Given the description of an element on the screen output the (x, y) to click on. 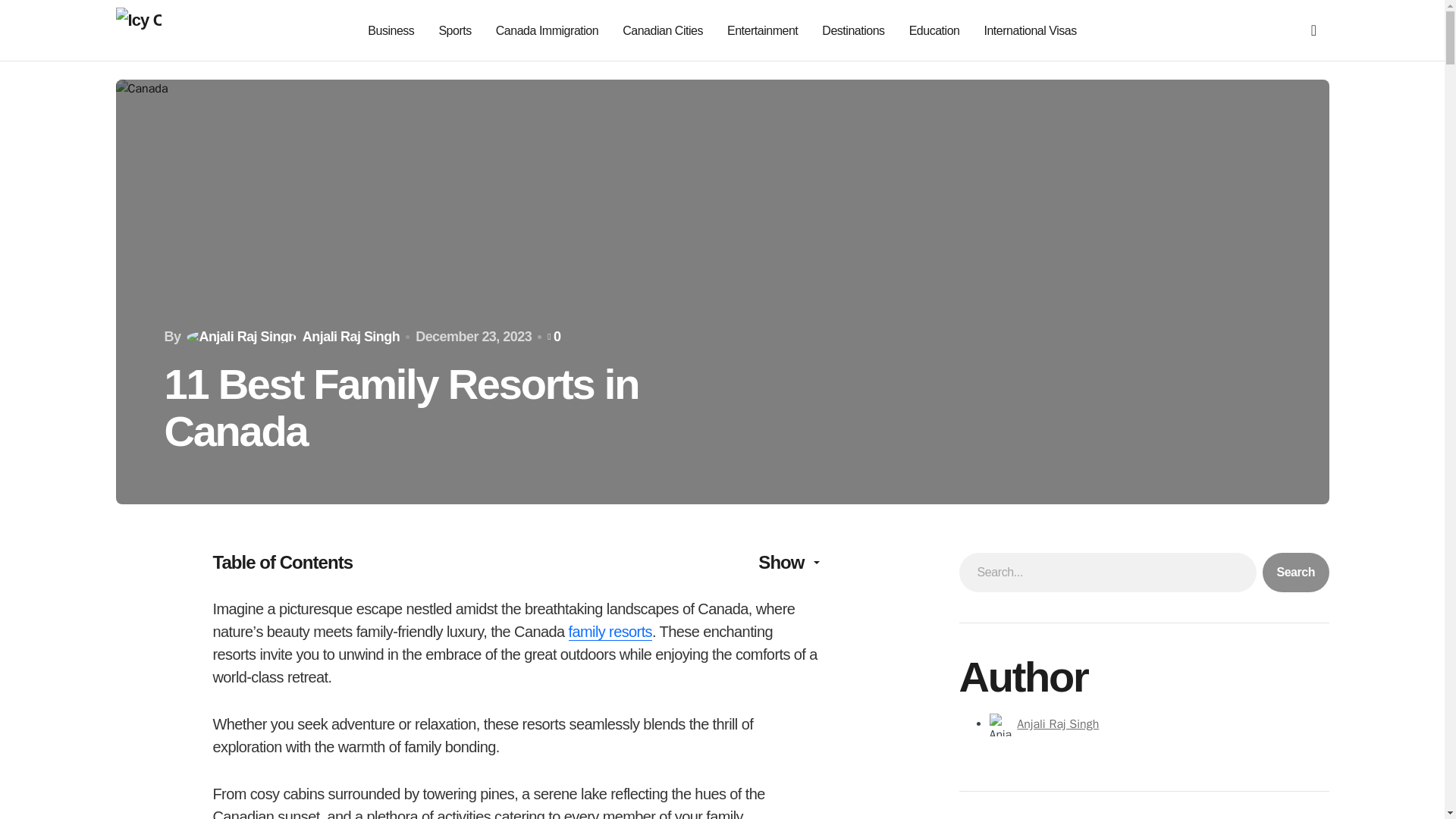
Destinations (852, 30)
Entertainment (761, 30)
International Visas (1029, 30)
Anjali Raj Singh (1057, 724)
Canadian Cities (663, 30)
Canada Immigration (547, 30)
